Given the description of an element on the screen output the (x, y) to click on. 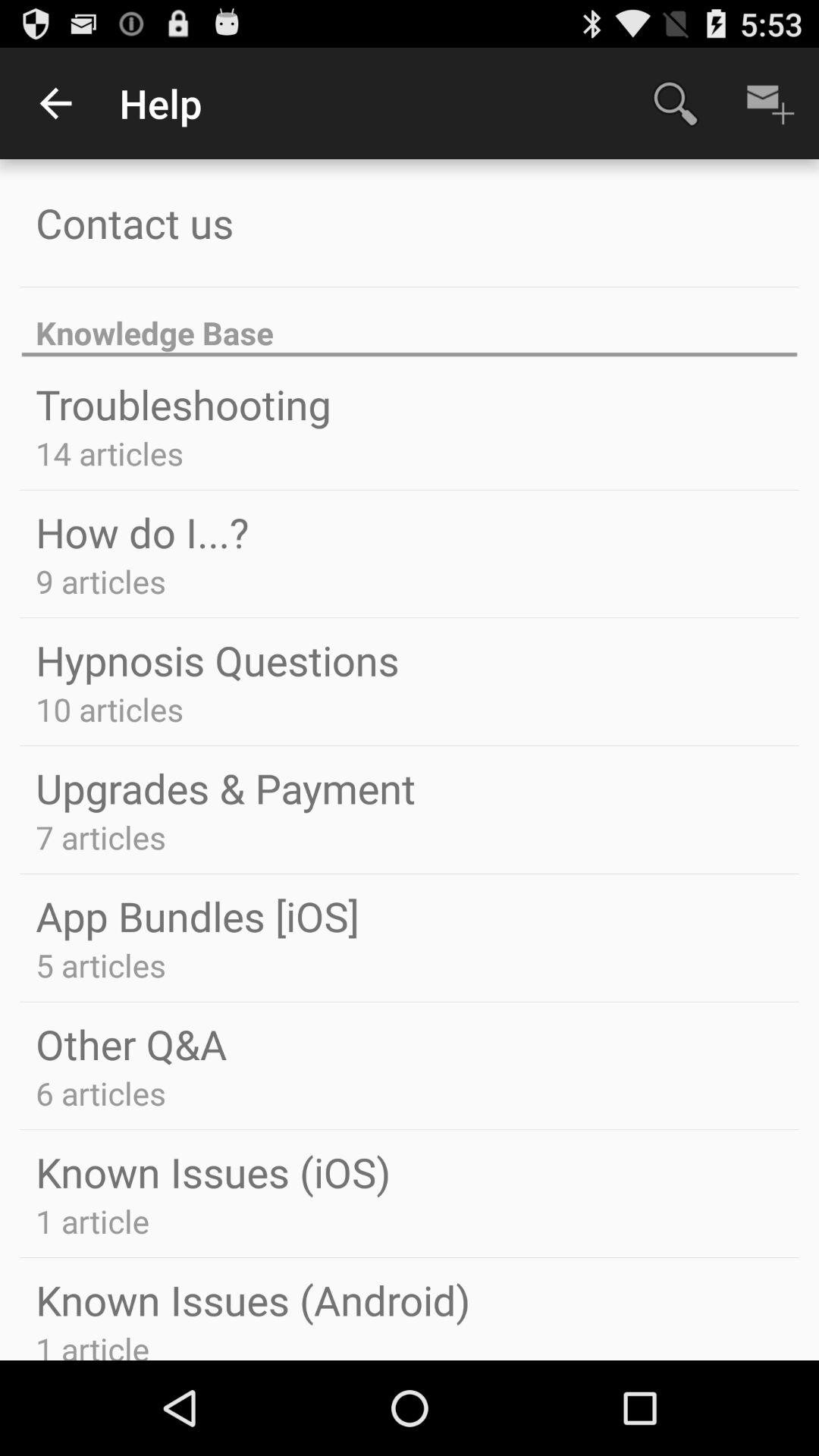
choose icon next to the help app (55, 103)
